Given the description of an element on the screen output the (x, y) to click on. 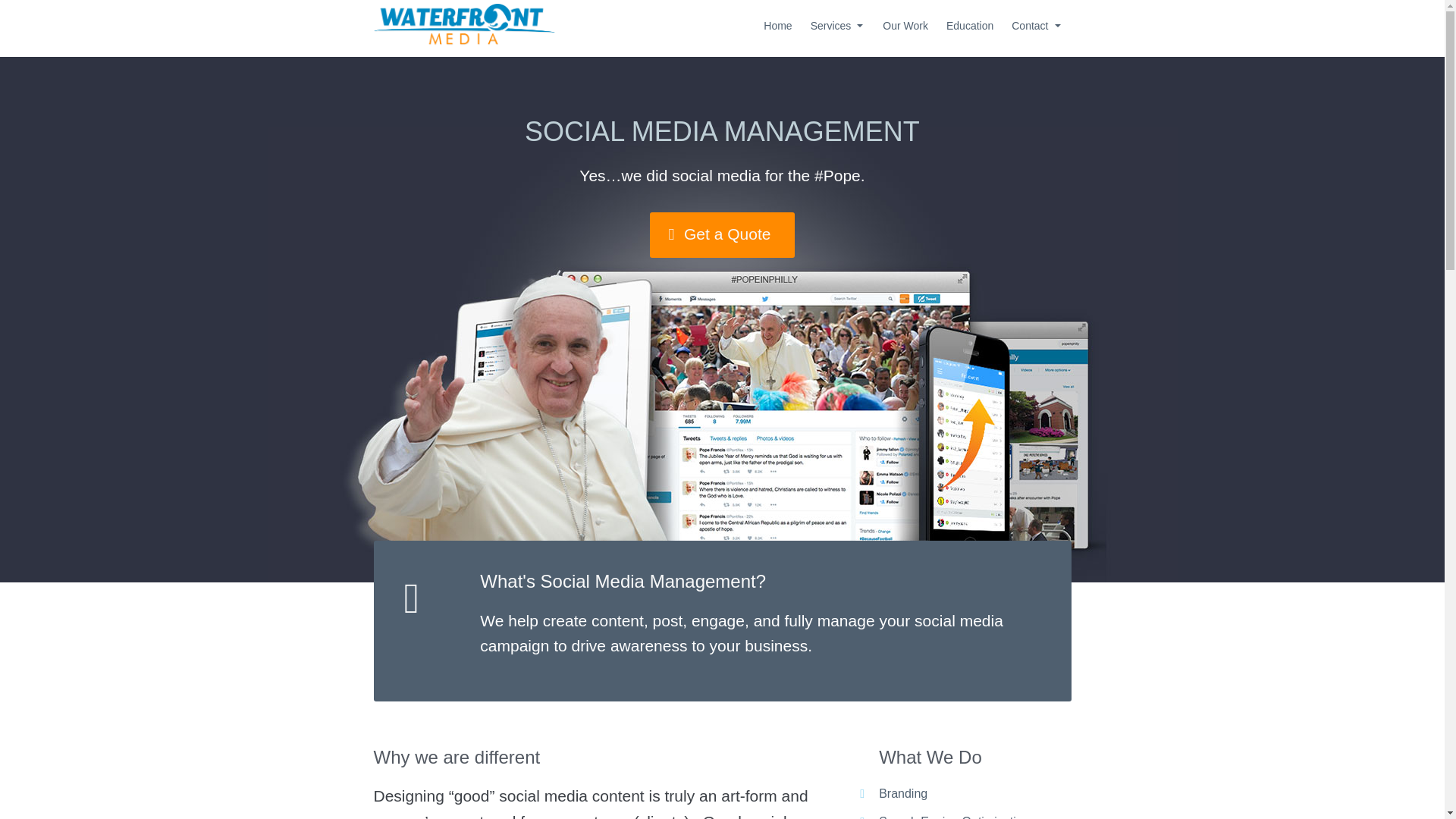
Home (777, 25)
Education (970, 25)
Branding (903, 793)
Our Work (905, 25)
Search Engine Optimization (954, 816)
Contact (1036, 25)
Get a Quote (721, 234)
Get a Quote (721, 234)
Services (838, 25)
